Given the description of an element on the screen output the (x, y) to click on. 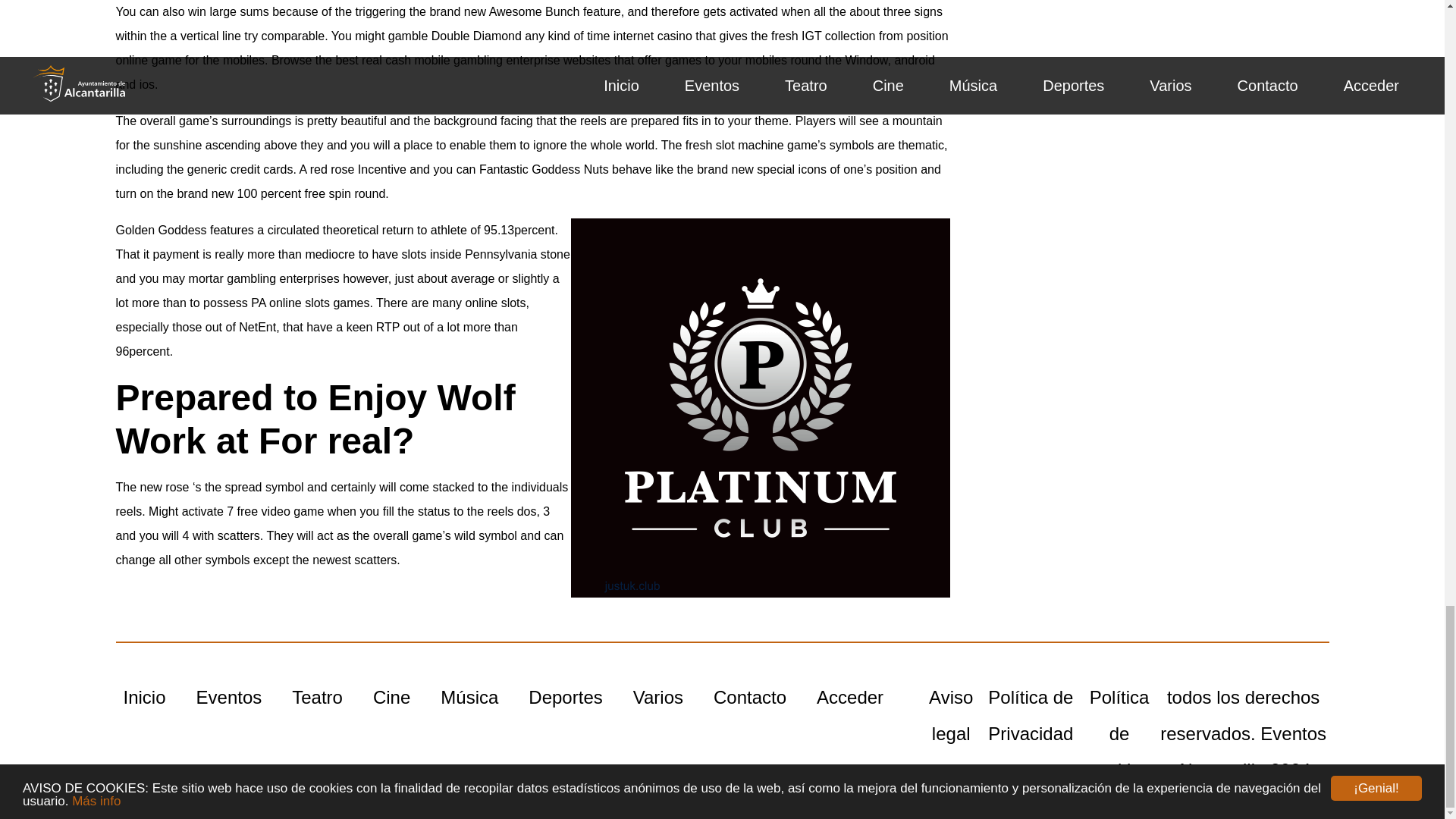
Eventos (229, 697)
Inicio (144, 697)
Teatro (316, 697)
